Given the description of an element on the screen output the (x, y) to click on. 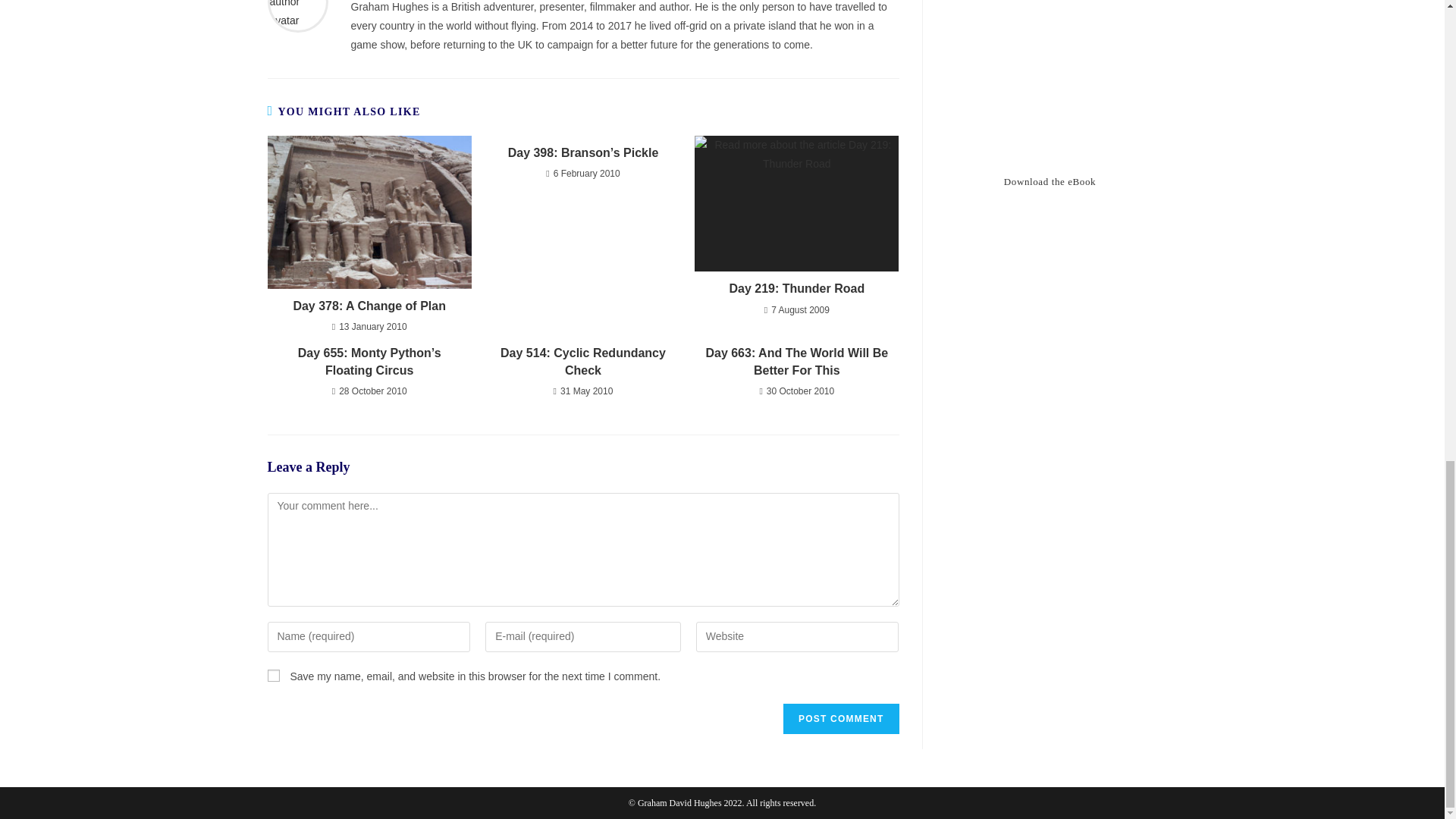
Post Comment (840, 718)
Visit author page (296, 3)
yes (272, 675)
